Given the description of an element on the screen output the (x, y) to click on. 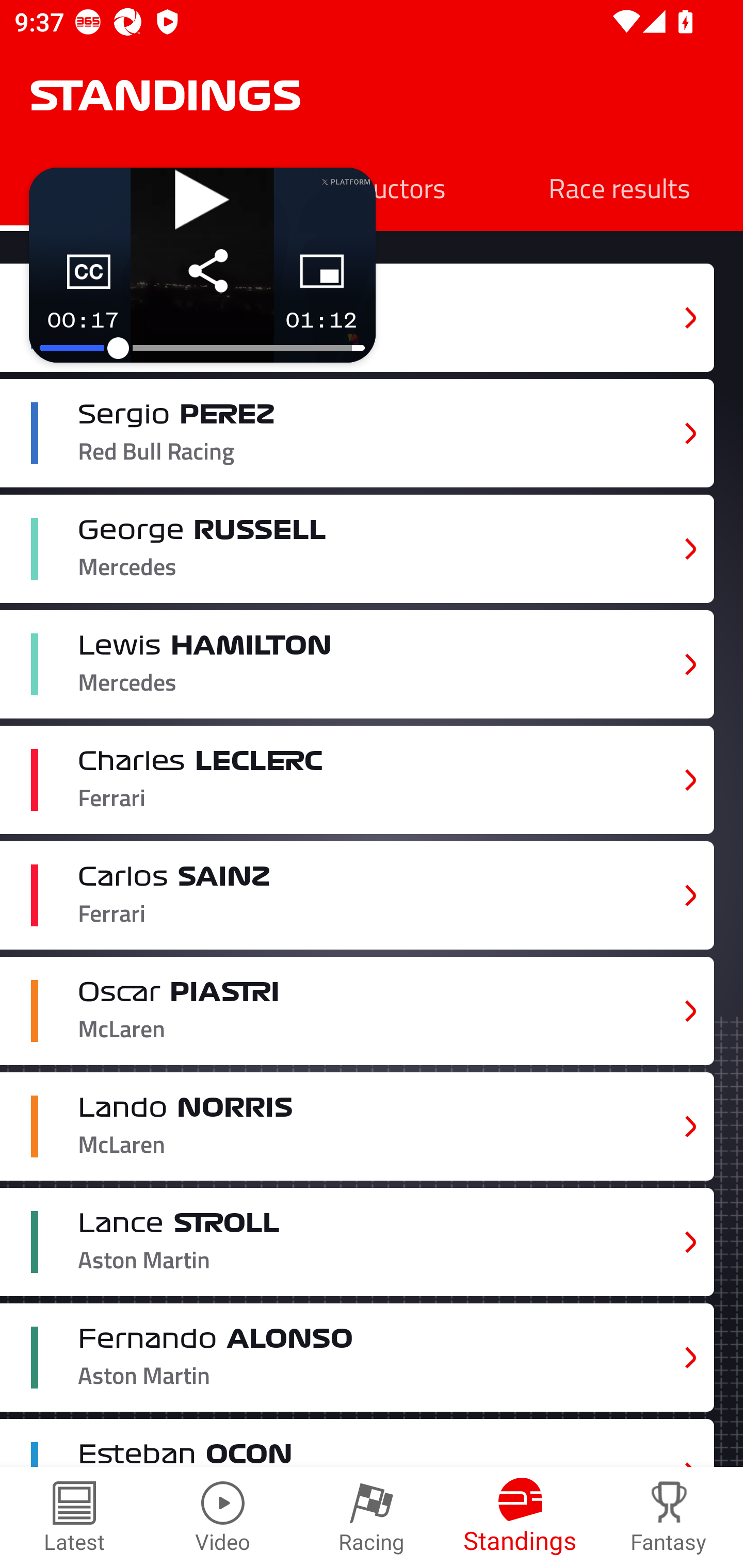
Race results (619, 187)
Sergio PEREZ Red Bull Racing (357, 433)
George RUSSELL Mercedes (357, 548)
Lewis HAMILTON Mercedes (357, 663)
Charles LECLERC Ferrari (357, 779)
Carlos SAINZ Ferrari (357, 896)
Oscar PIASTRI McLaren (357, 1010)
Lando NORRIS McLaren (357, 1126)
Lance STROLL Aston Martin (357, 1242)
Fernando ALONSO Aston Martin (357, 1357)
Latest (74, 1517)
Video (222, 1517)
Racing (371, 1517)
Fantasy (668, 1517)
